Given the description of an element on the screen output the (x, y) to click on. 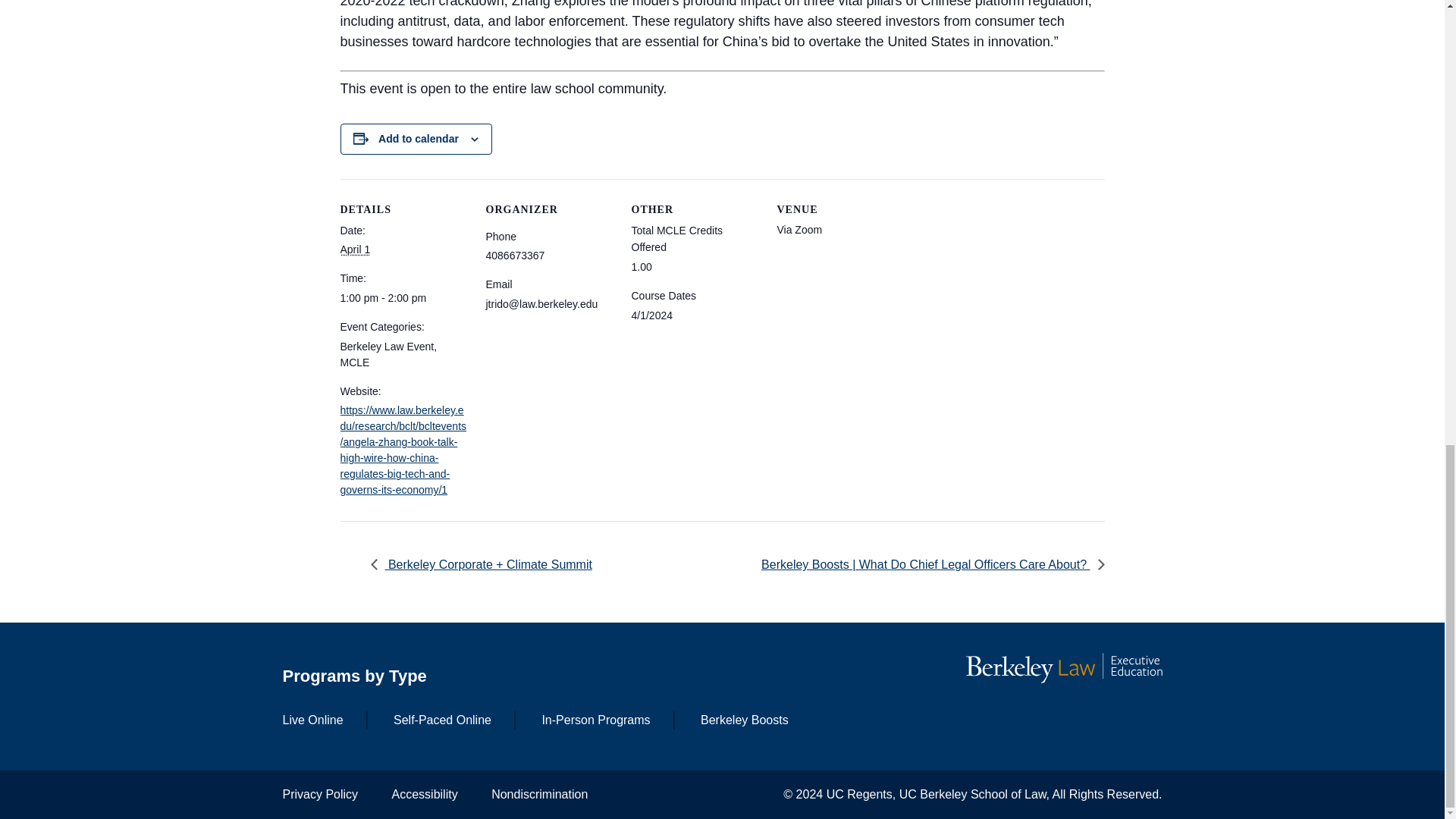
Add to calendar (418, 138)
Live Online (312, 719)
In-Person Programs (595, 719)
Self-Paced Online (442, 719)
2024-04-01 (403, 298)
2024-04-01 (354, 249)
